Given the description of an element on the screen output the (x, y) to click on. 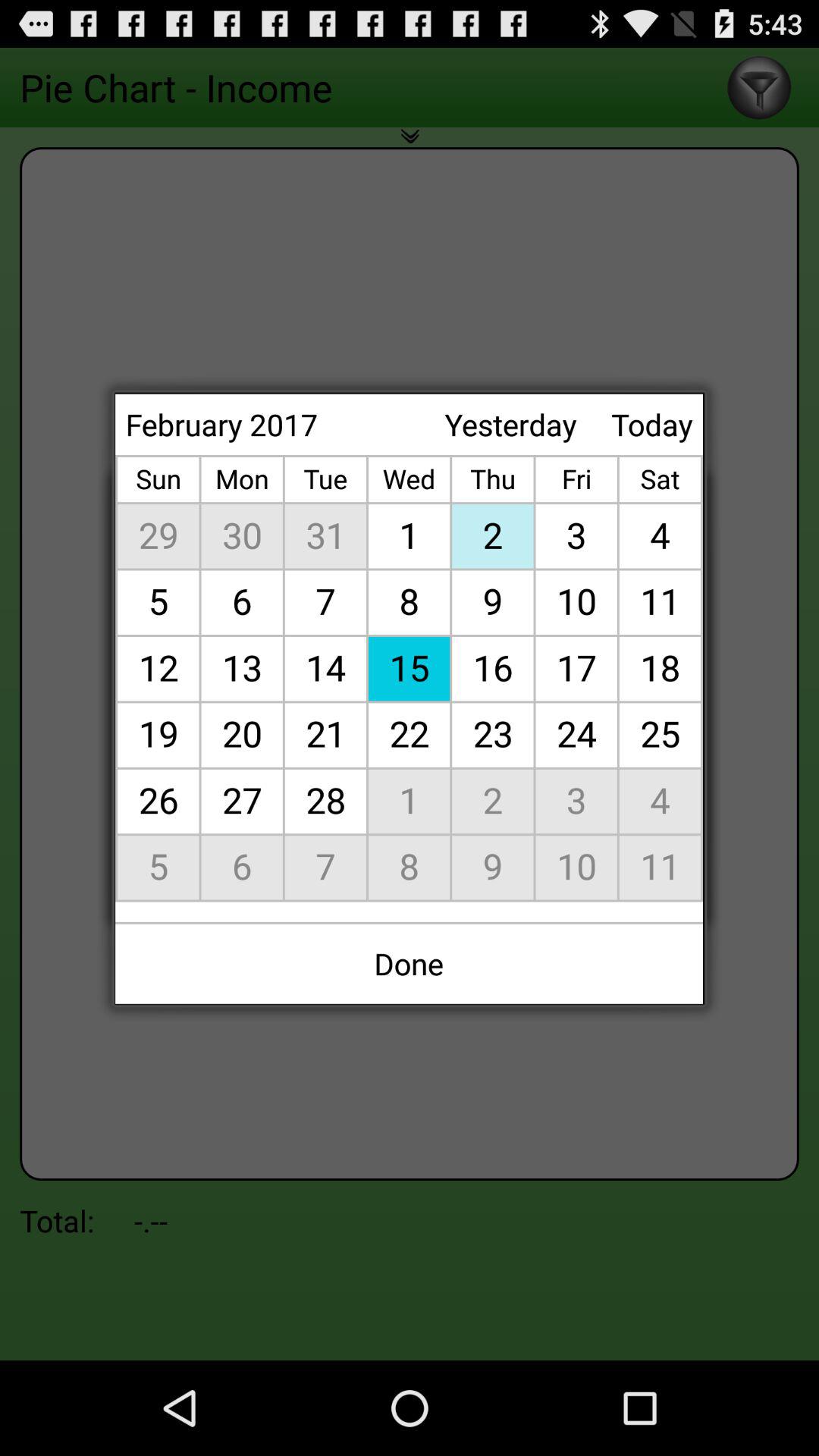
flip to the yesterday item (510, 424)
